Given the description of an element on the screen output the (x, y) to click on. 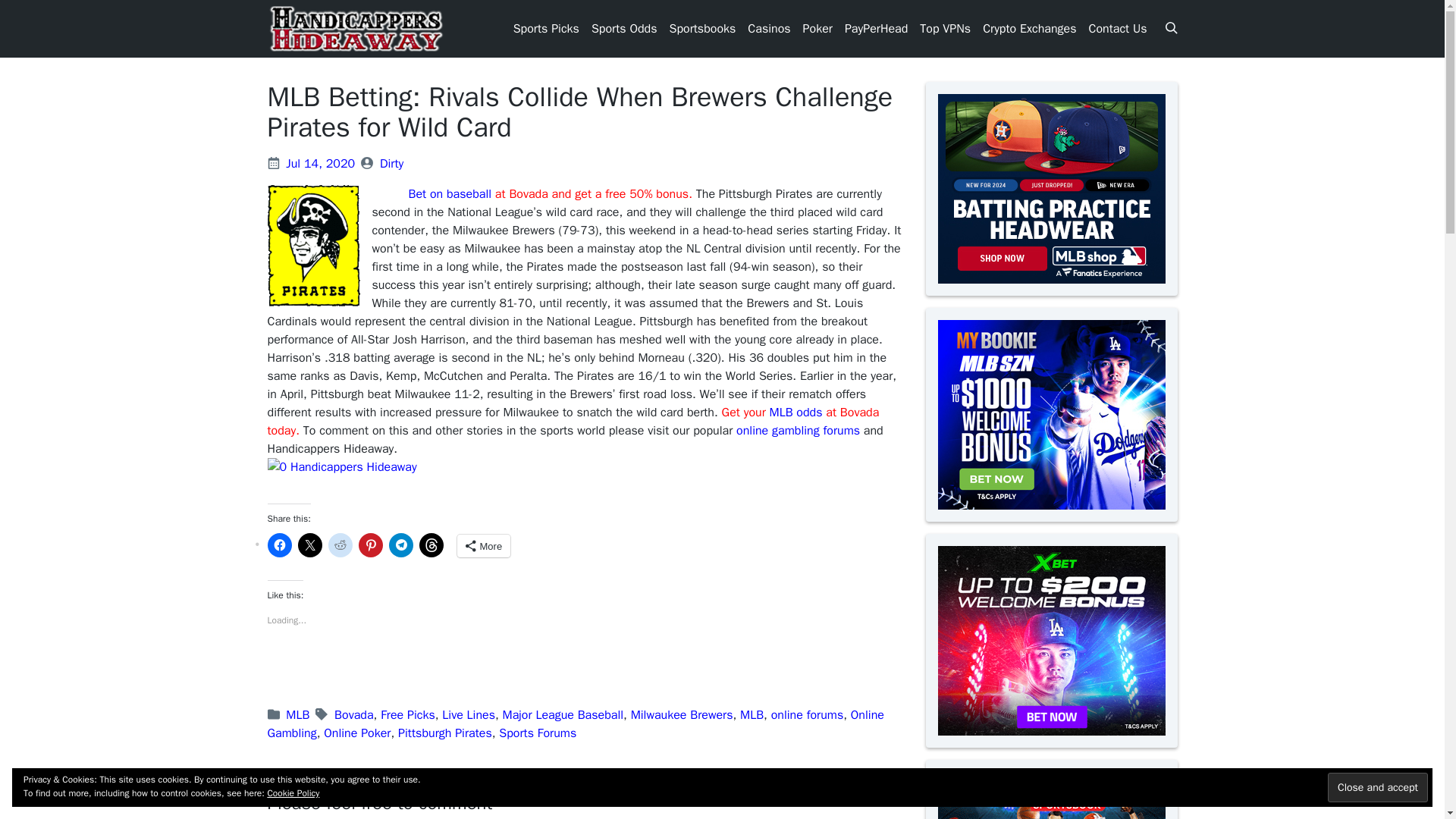
Betplay (821, 119)
Casinos (769, 28)
Consensus Picks (541, 110)
NFL Odds (614, 264)
NCAA Basketball Odds (617, 173)
YouWager (828, 137)
Sports Odds (624, 28)
Register (534, 137)
Sportsbook Pay Per Head Reviews (873, 73)
NCAA Football Odds (610, 228)
CFL Odds (614, 83)
BetOnline (827, 46)
Like or Reblog (583, 672)
Sportsbooks (701, 28)
Betplay (764, 46)
